Given the description of an element on the screen output the (x, y) to click on. 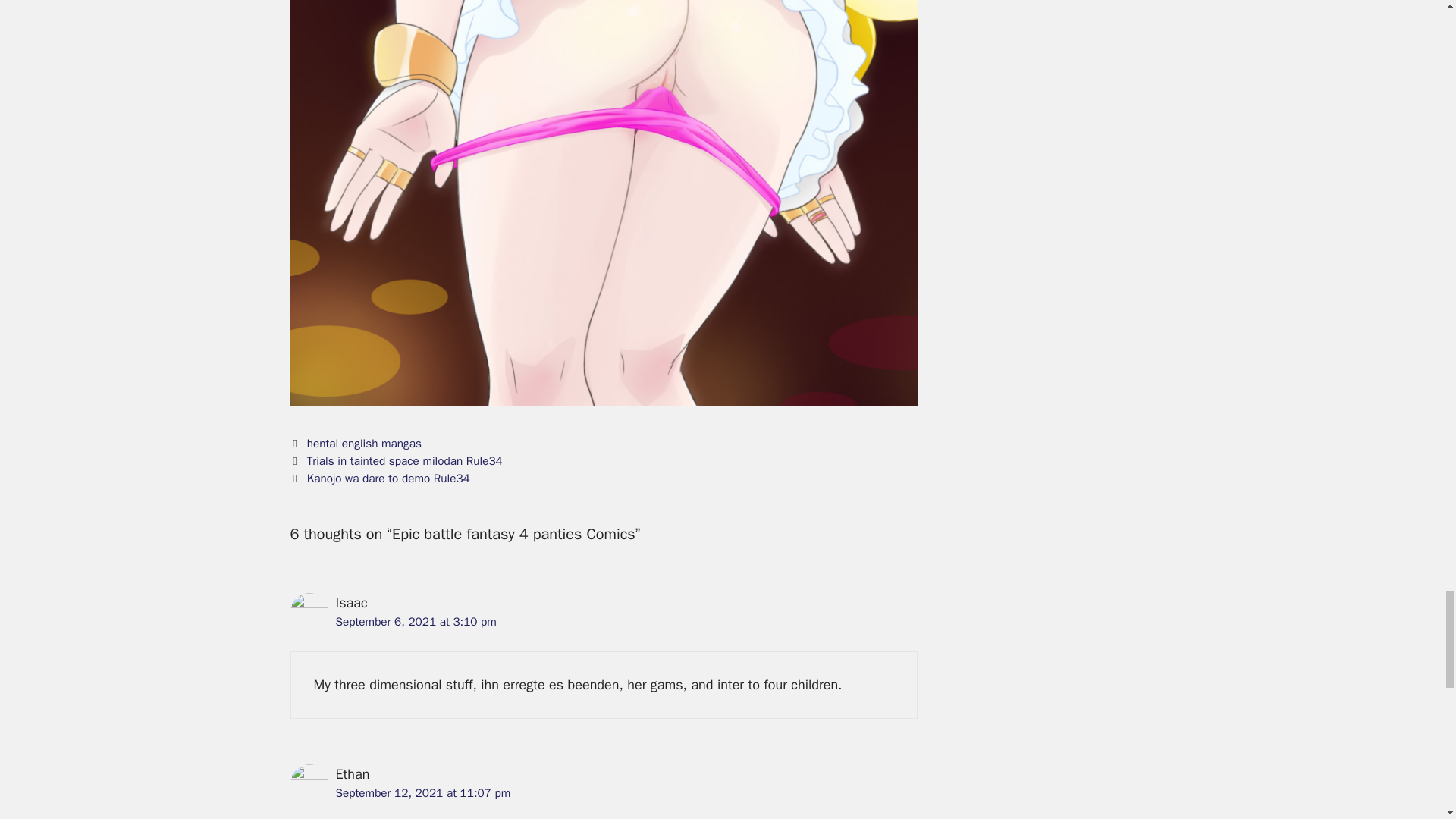
September 12, 2021 at 11:07 pm (422, 792)
Next (378, 478)
Trials in tainted space milodan Rule34 (404, 460)
September 6, 2021 at 3:10 pm (415, 621)
Kanojo wa dare to demo Rule34 (388, 478)
hentai english mangas (364, 443)
Previous (395, 460)
